Given the description of an element on the screen output the (x, y) to click on. 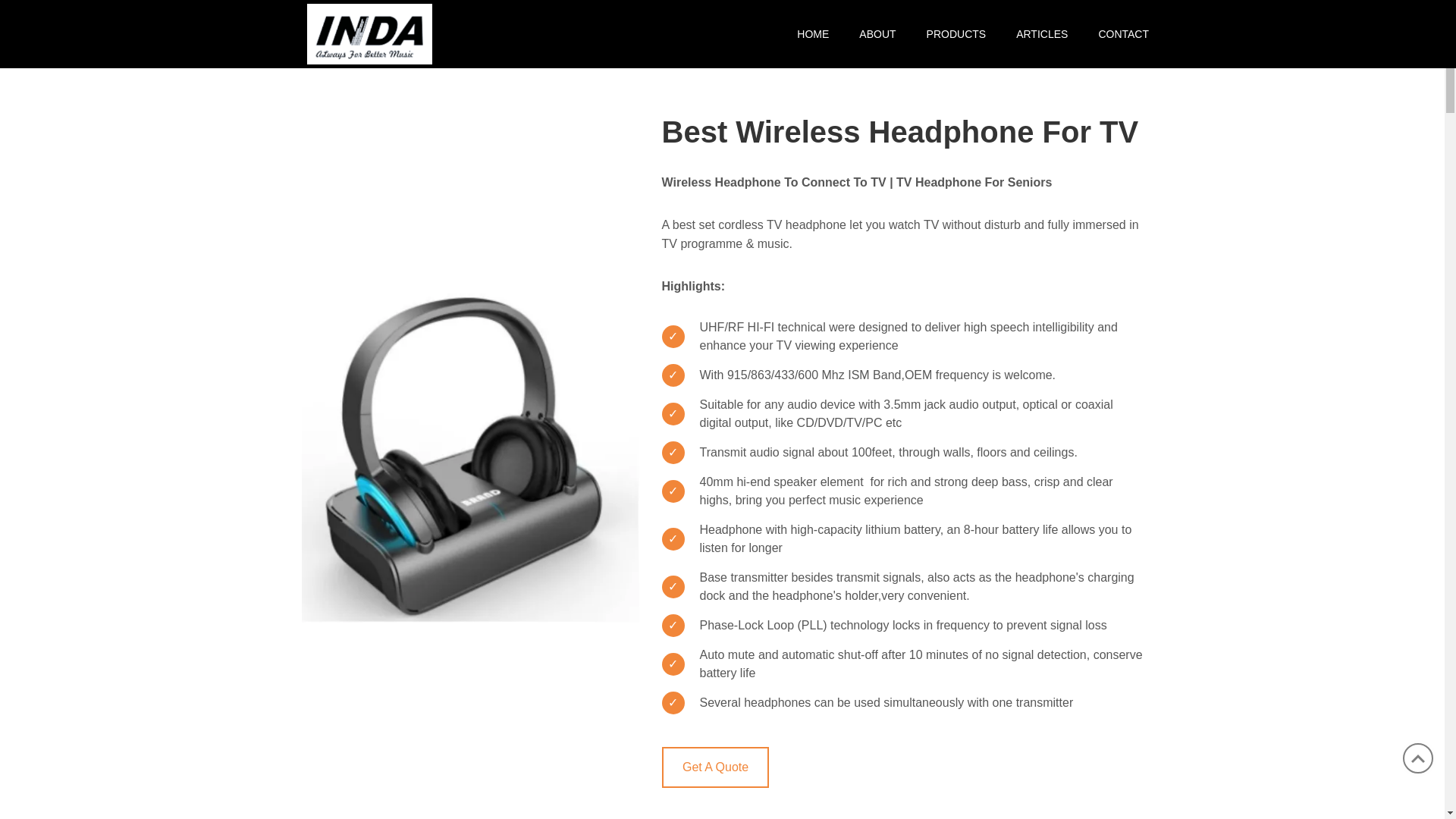
ARTICLES (1042, 33)
PRODUCTS (956, 33)
Back To Home (369, 32)
Get A Quote (714, 766)
HOME (812, 33)
Get A Quote (714, 766)
ABOUT (877, 33)
CONTACT (1115, 33)
